Given the description of an element on the screen output the (x, y) to click on. 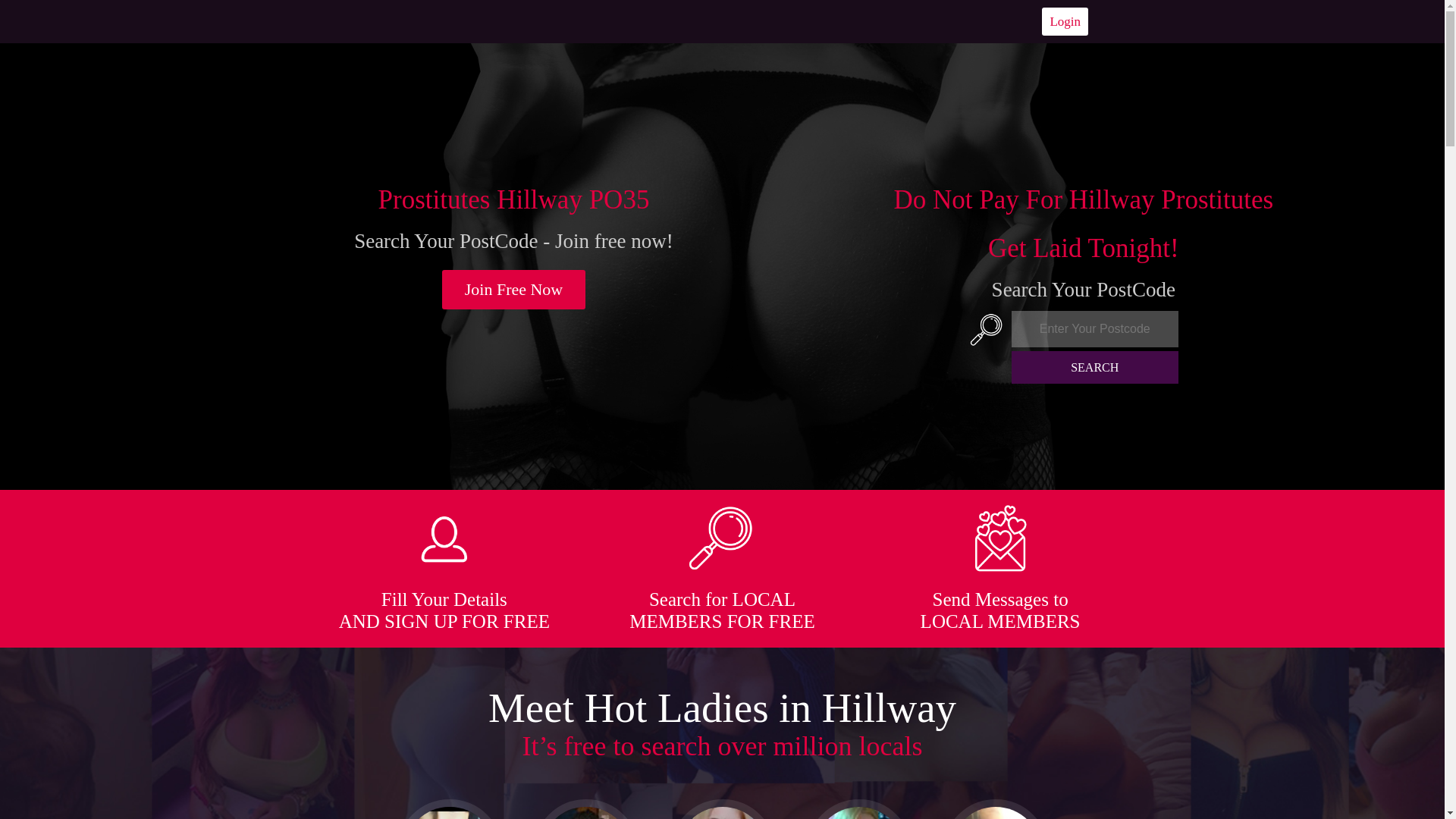
Login (1064, 21)
Join (514, 289)
Login (1064, 21)
SEARCH (1094, 367)
Join Free Now (514, 289)
